Given the description of an element on the screen output the (x, y) to click on. 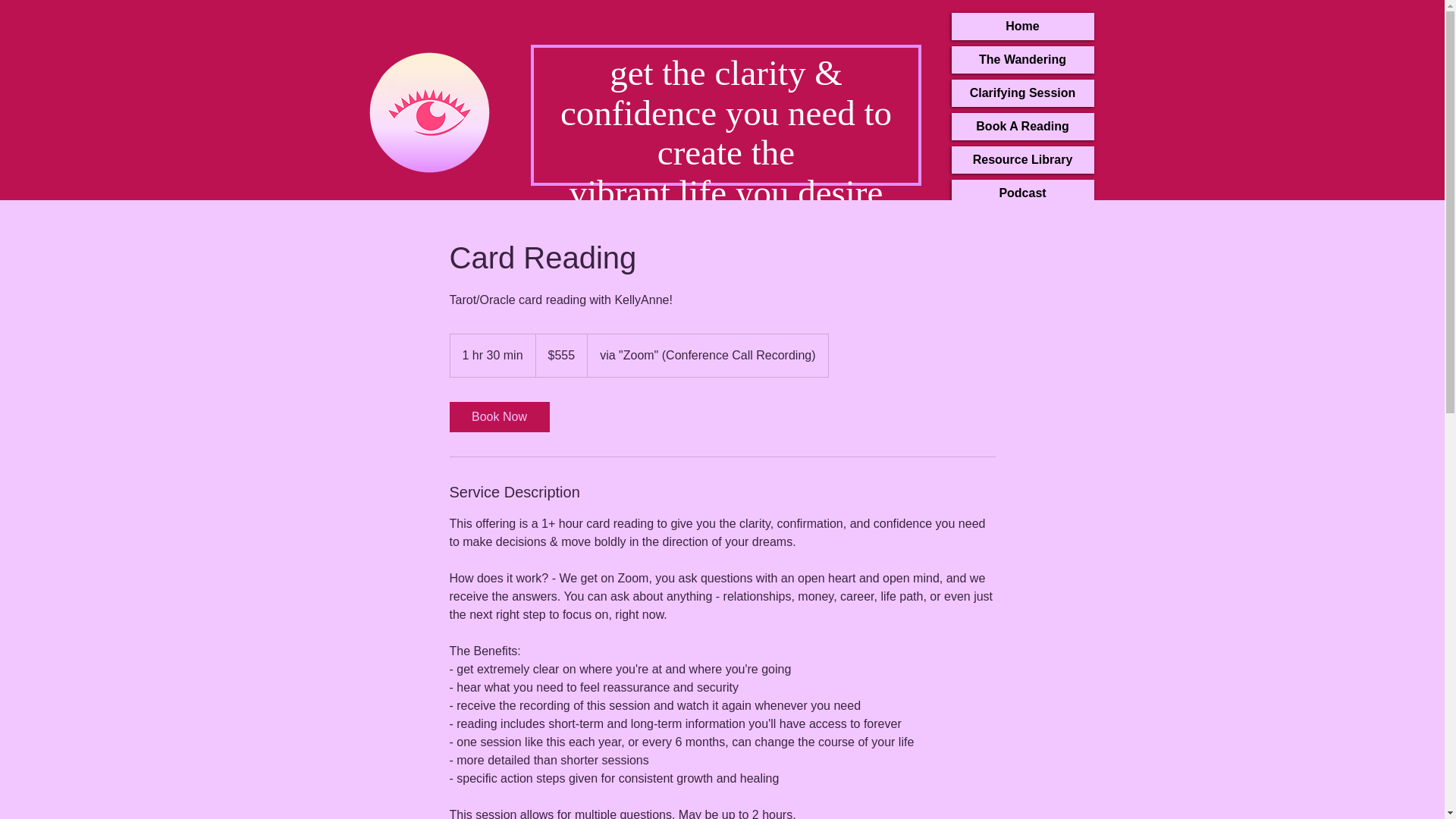
The Wandering (1021, 59)
Book A Reading (1021, 126)
Clarifying Session (1021, 93)
Book Now (498, 417)
Resource Library (1021, 159)
Podcast (1021, 193)
Home (1021, 26)
